Given the description of an element on the screen output the (x, y) to click on. 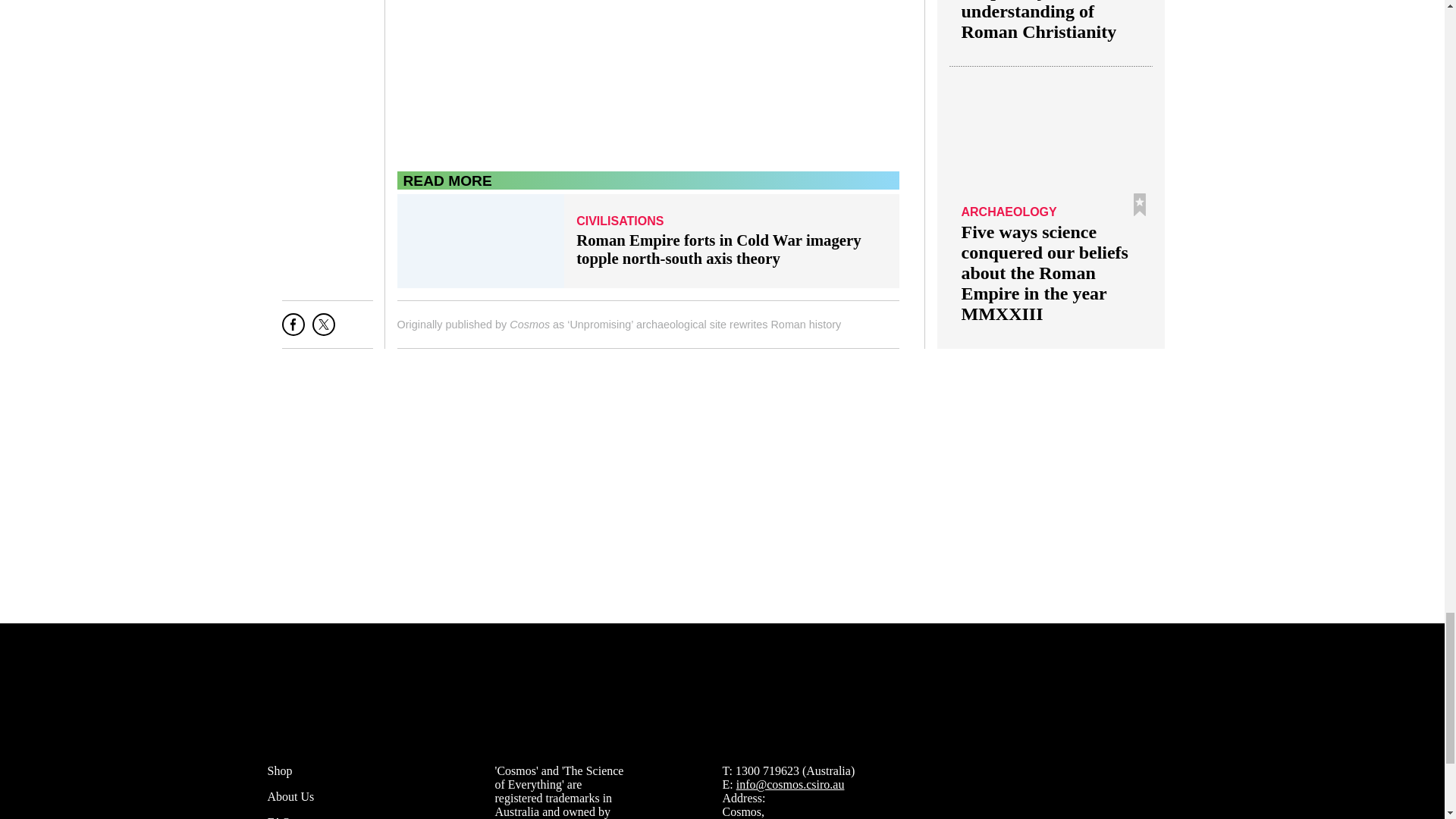
'unpromising' archaeological site rewrites roman history 5 (647, 77)
Tweet (323, 330)
Share on Facebook (293, 330)
